Given the description of an element on the screen output the (x, y) to click on. 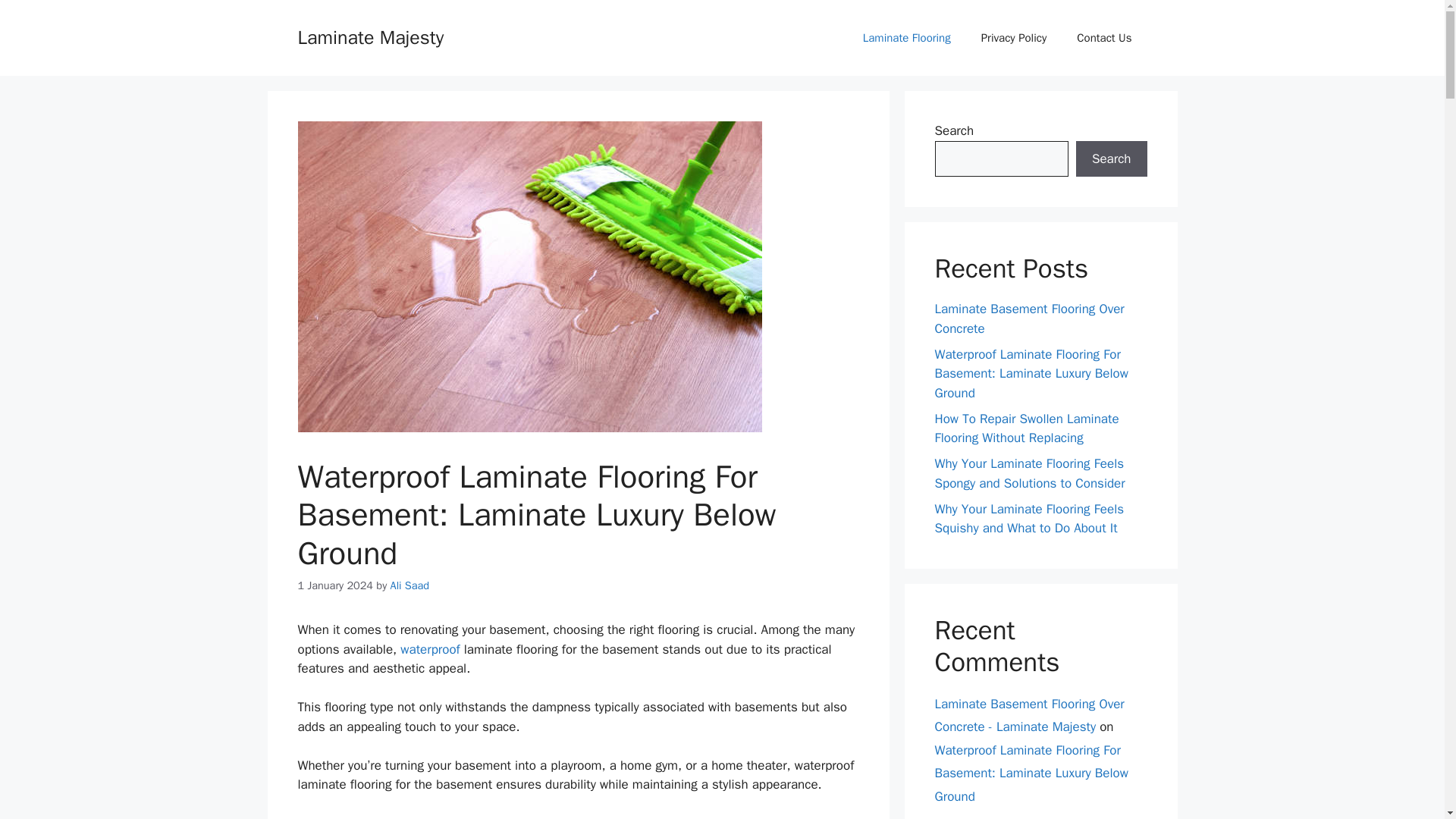
Search (1111, 158)
Contact Us (1104, 37)
Laminate Majesty (370, 37)
Privacy Policy (1014, 37)
Laminate Basement Flooring Over Concrete (1029, 318)
waterproof (430, 649)
Ali Saad (409, 585)
